Given the description of an element on the screen output the (x, y) to click on. 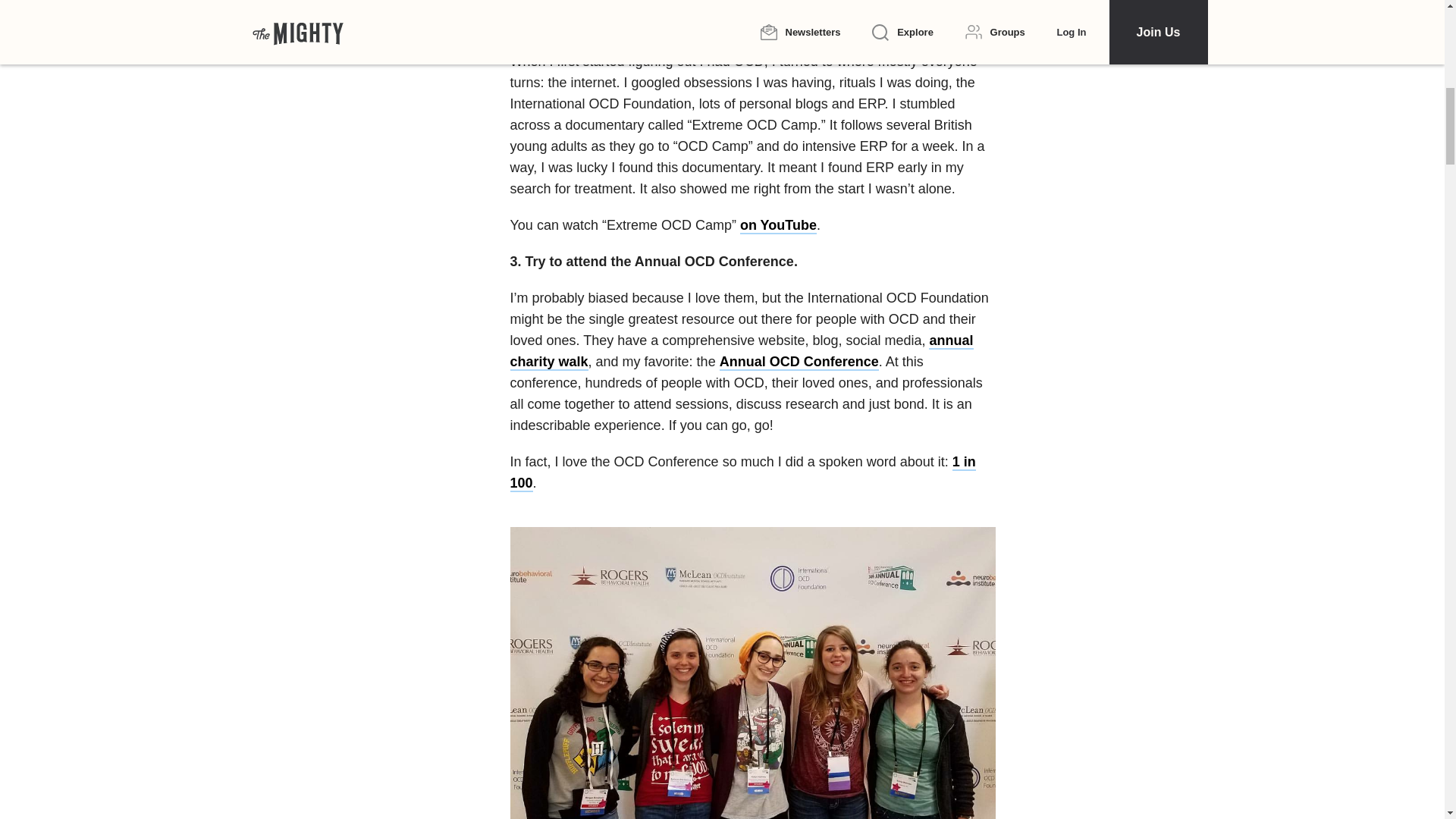
1 in 100 (742, 473)
on YouTube (777, 225)
Annual OCD Conference (799, 362)
annual charity walk (740, 351)
